Given the description of an element on the screen output the (x, y) to click on. 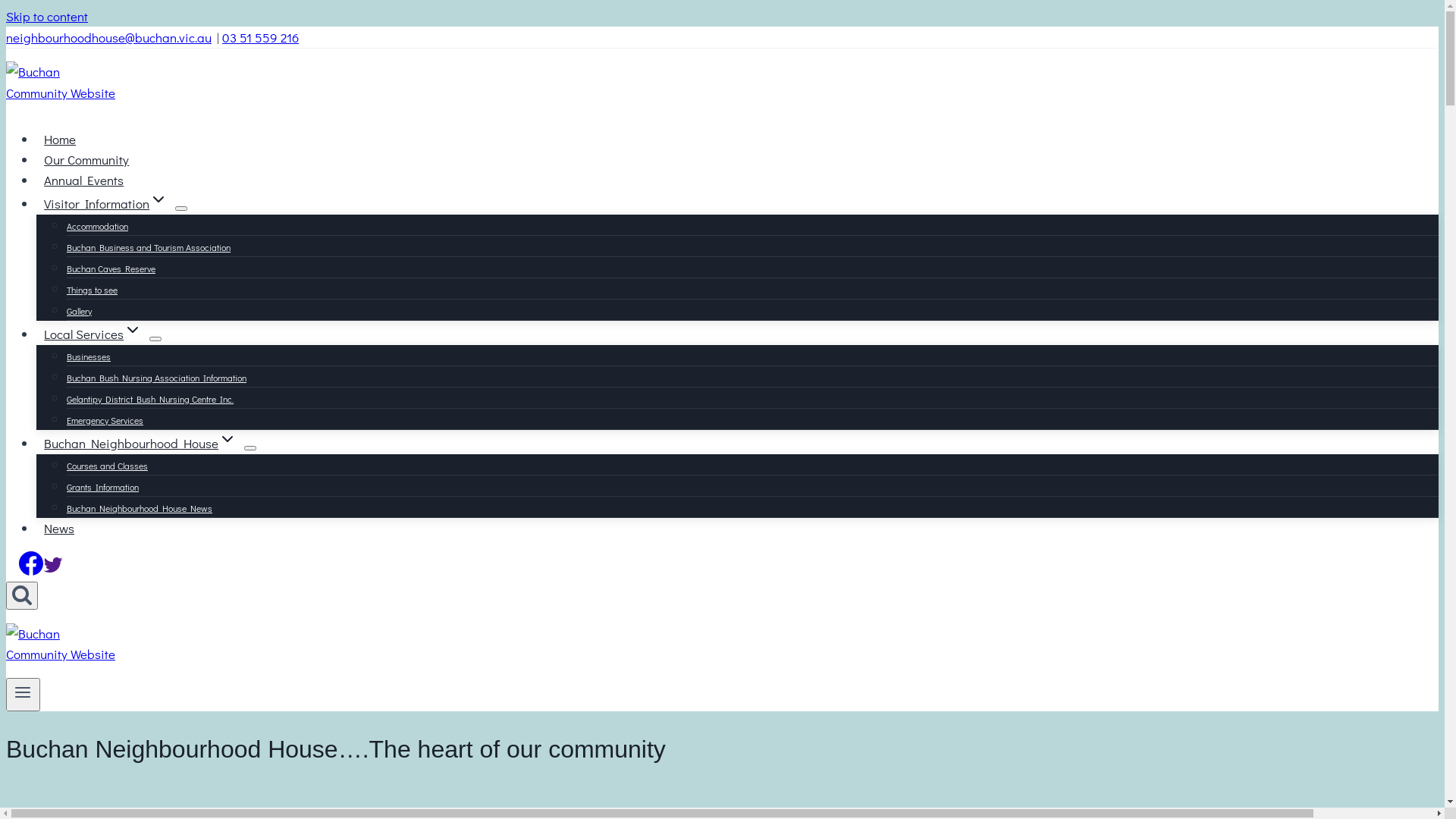
Facebook Element type: text (30, 570)
Gelantipy District Bush Nursing Centre Inc. Element type: text (149, 398)
Buchan Neighbourhood HouseExpand Element type: text (140, 442)
News Element type: text (58, 527)
03 51 559 216 Element type: text (260, 37)
Skip to content Element type: text (46, 16)
Things to see Element type: text (91, 289)
Courses and Classes Element type: text (106, 465)
neighbourhoodhouse@buchan.vic.au Element type: text (108, 37)
Search Element type: text (21, 594)
Accommodation Element type: text (97, 225)
Buchan Caves Reserve Element type: text (110, 268)
Emergency Services Element type: text (104, 419)
Visitor InformationExpand Element type: text (105, 203)
Twitter Element type: text (52, 570)
Local ServicesExpand Element type: text (92, 333)
Businesses Element type: text (88, 356)
Buchan Bush Nursing Association Information Element type: text (156, 377)
Buchan Business and Tourism Association Element type: text (148, 247)
Annual Events Element type: text (83, 179)
Toggle Menu Element type: text (23, 694)
Grants Information Element type: text (102, 486)
Buchan Neighbourhood House News Element type: text (139, 507)
Gallery Element type: text (78, 310)
Home Element type: text (59, 138)
Our Community Element type: text (86, 159)
